Given the description of an element on the screen output the (x, y) to click on. 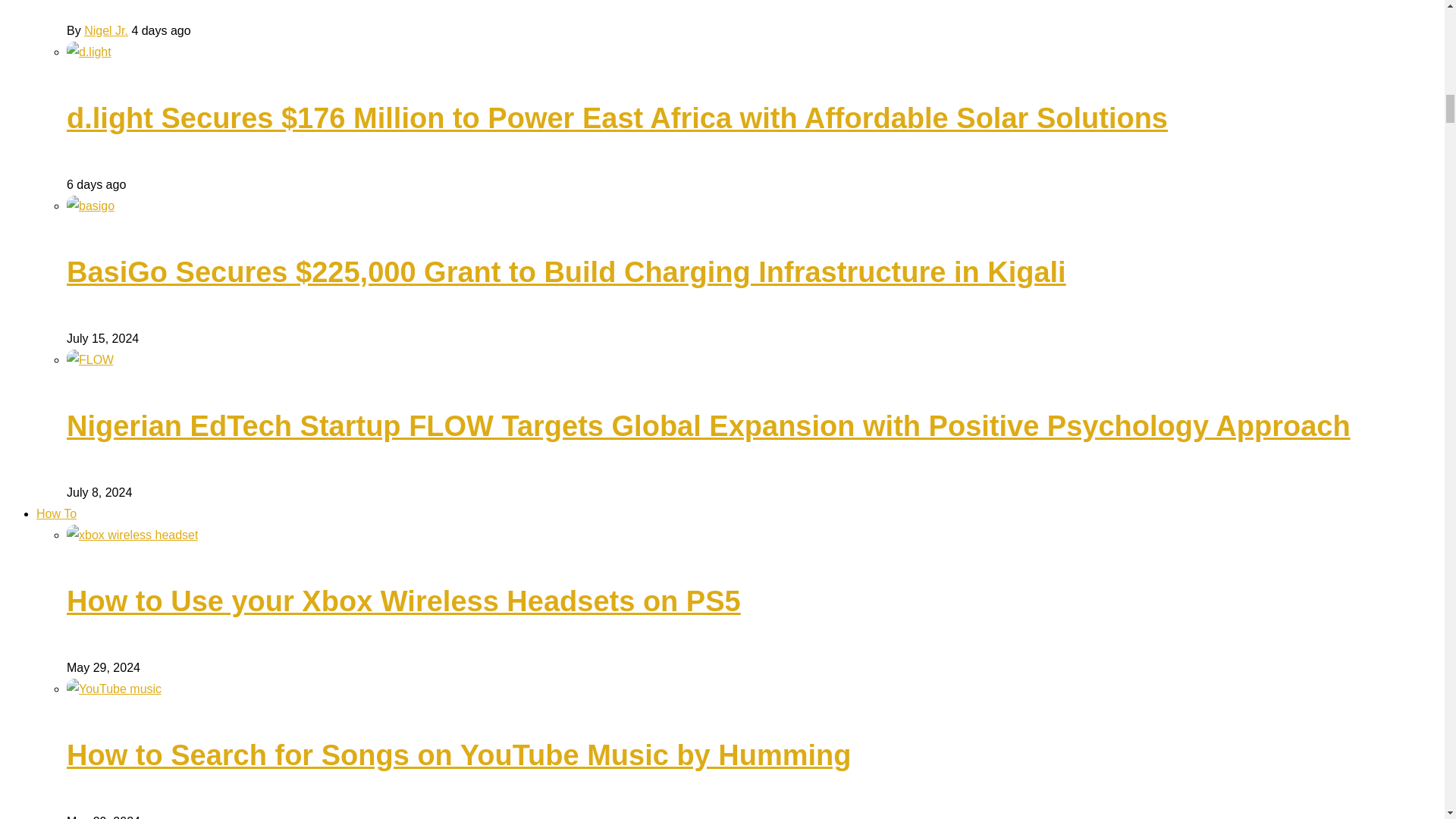
July 19, 2024 at 12:40 am (160, 30)
July 17, 2024 at 1:37 pm (95, 184)
